Given the description of an element on the screen output the (x, y) to click on. 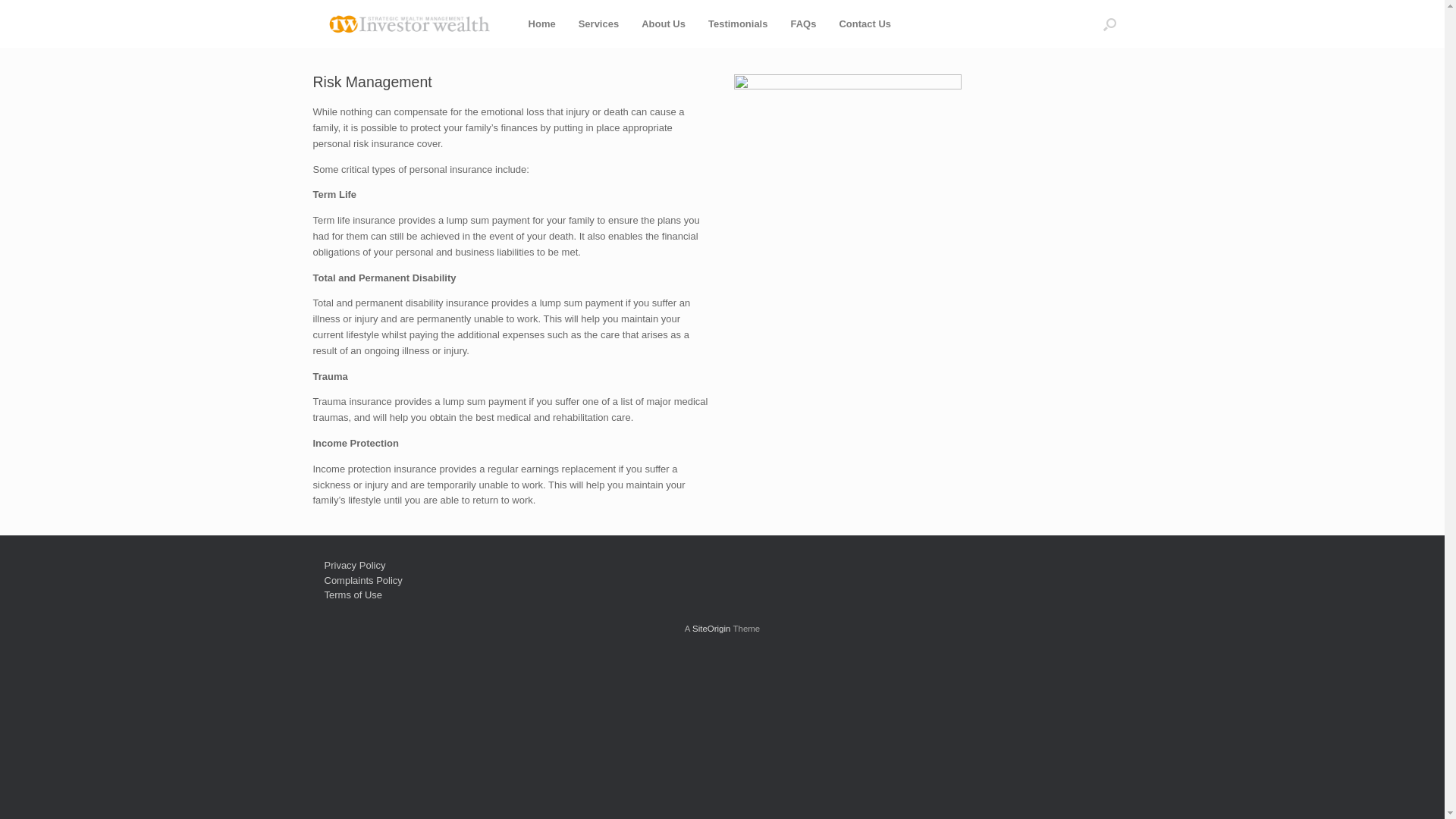
Home Element type: text (542, 23)
FAQs Element type: text (802, 23)
Services Element type: text (598, 23)
About Us Element type: text (663, 23)
Complaints Policy Element type: text (363, 580)
InvestorWealth Element type: hover (408, 23)
Terms of Use Element type: text (353, 594)
Contact Us Element type: text (864, 23)
Privacy Policy Element type: text (354, 565)
Testimonials Element type: text (737, 23)
SiteOrigin Element type: text (711, 628)
